Given the description of an element on the screen output the (x, y) to click on. 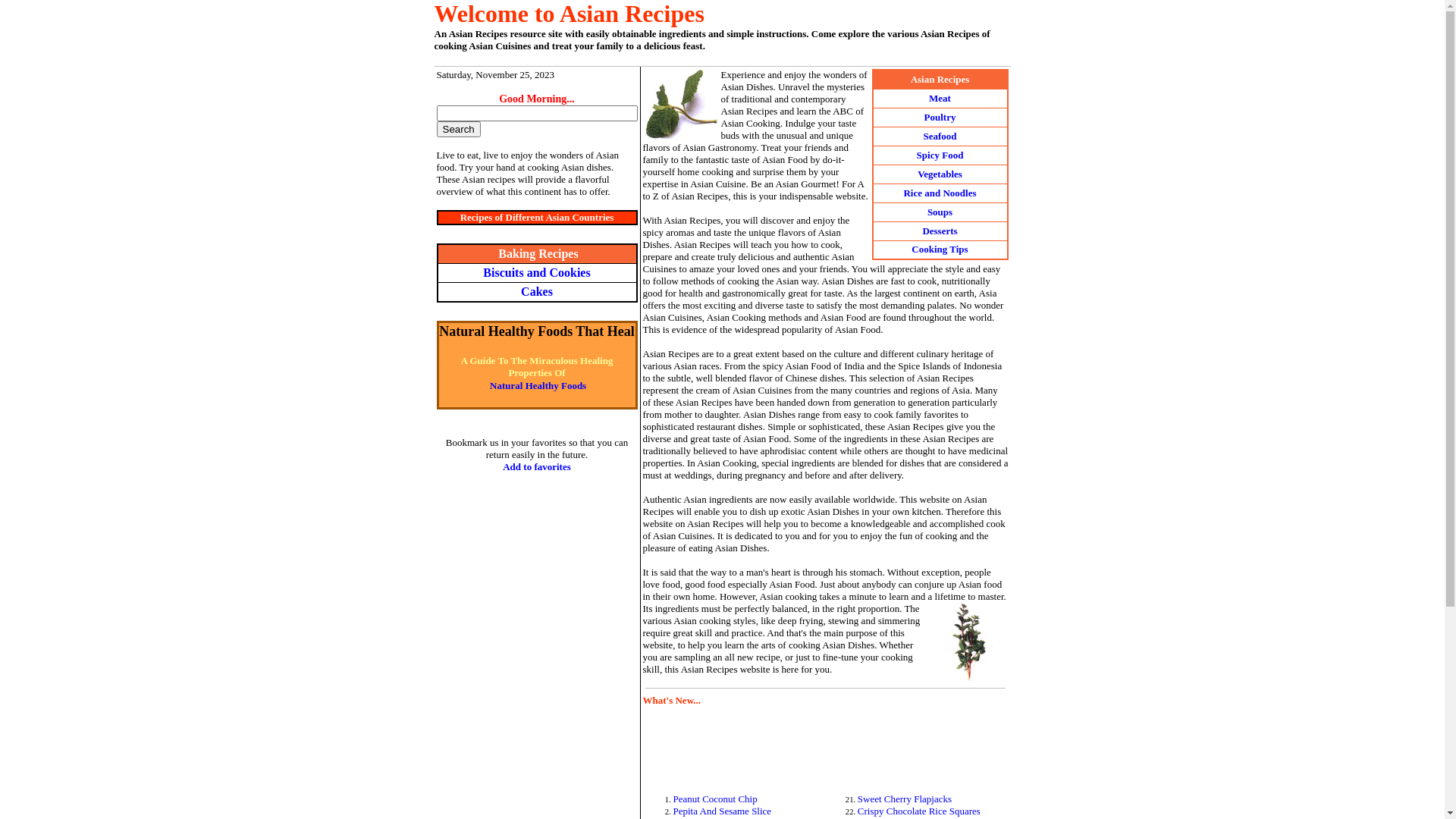
Natural Healthy Foods Element type: text (537, 385)
Meat Element type: text (939, 97)
Pepita And Sesame Slice Element type: text (722, 810)
Rice and Noodles Element type: text (939, 191)
Add to favorites Element type: text (536, 466)
Soups Element type: text (939, 211)
Desserts Element type: text (939, 229)
Asian Recipes Element type: text (939, 78)
Cooking Tips Element type: text (939, 248)
Cakes Element type: text (536, 291)
Sweet Cherry Flapjacks Element type: text (904, 798)
Recipes of Different Asian Countries Element type: text (537, 216)
Vegetables Element type: text (939, 173)
Spicy Food Element type: text (939, 154)
Search Element type: text (458, 129)
Poultry Element type: text (940, 116)
Seafood Element type: text (939, 135)
Biscuits and Cookies Element type: text (536, 272)
Crispy Chocolate Rice Squares Element type: text (918, 810)
Peanut Coconut Chip Element type: text (715, 798)
